Given the description of an element on the screen output the (x, y) to click on. 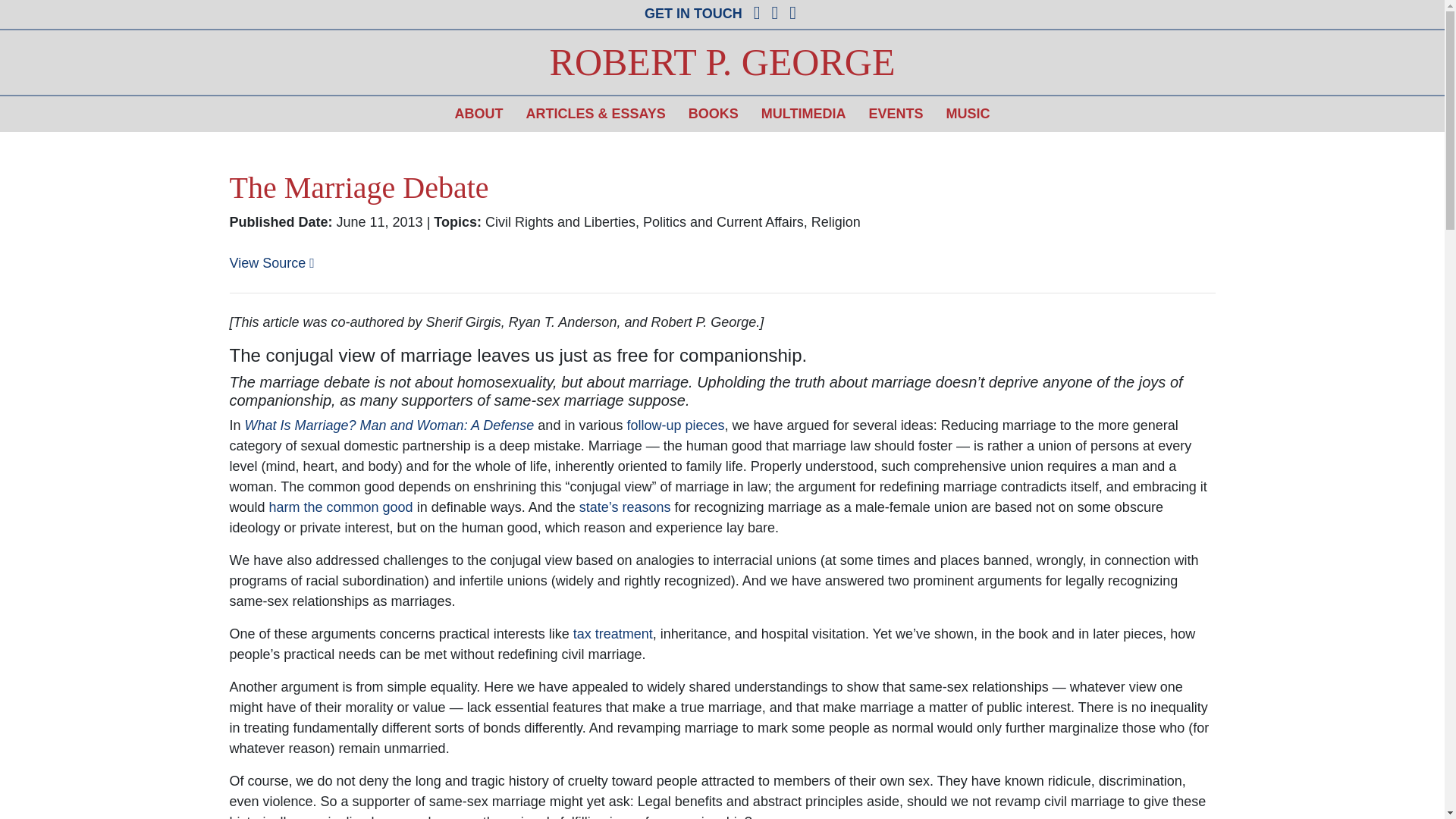
What Is Marriage? Man and Woman: A Defense (389, 425)
tax treatment (612, 633)
MULTIMEDIA (803, 113)
MUSIC (967, 113)
ROBERT P. GEORGE (722, 61)
EVENTS (895, 113)
harm the common good (341, 507)
View Source (271, 263)
follow-up pieces (674, 425)
GET IN TOUCH (693, 13)
BOOKS (713, 113)
ABOUT (477, 113)
